Given the description of an element on the screen output the (x, y) to click on. 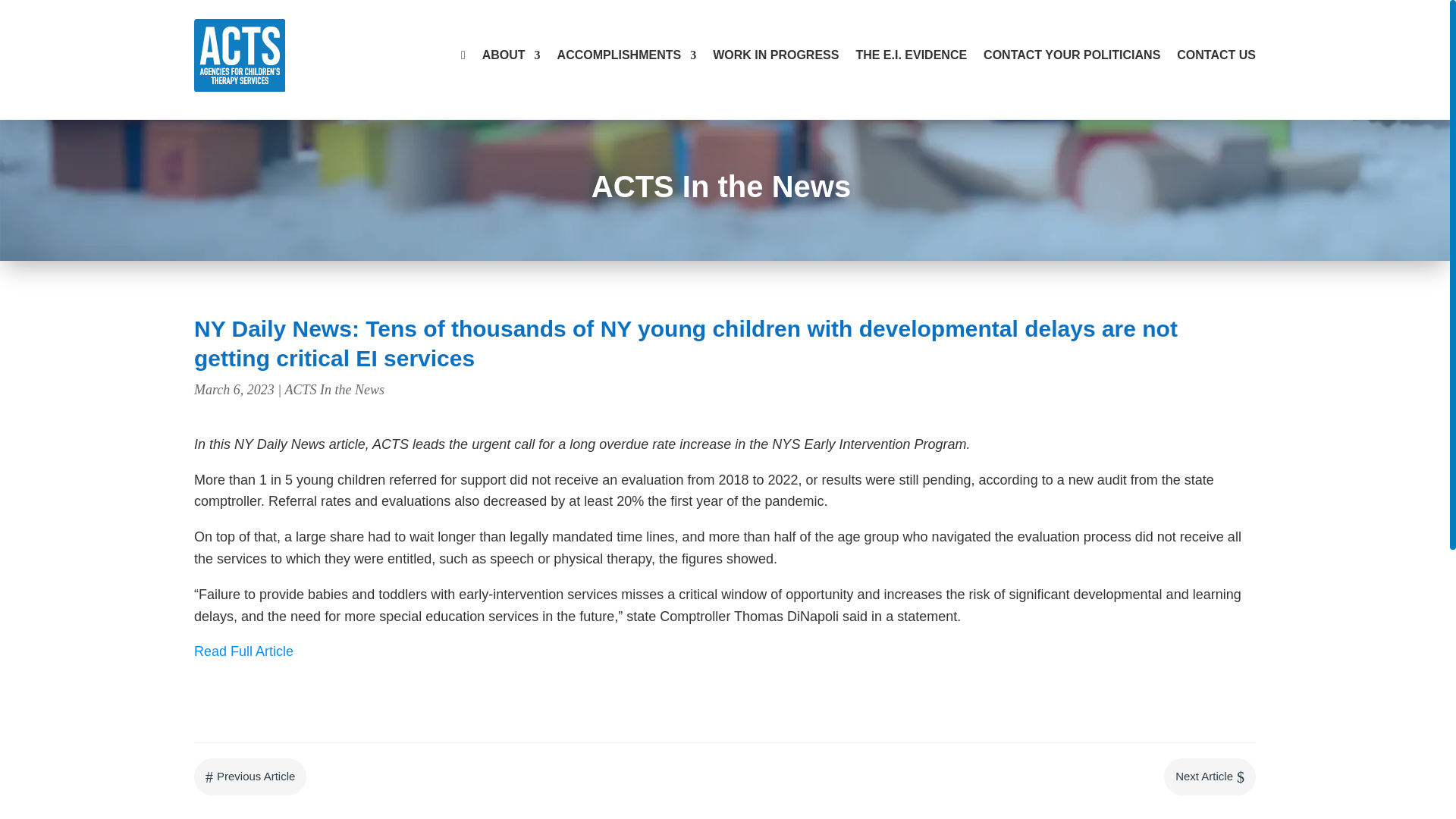
ACTS In the News (333, 389)
CONTACT YOUR POLITICIANS (1072, 54)
ACTS In the News (720, 186)
WORK IN PROGRESS (775, 54)
THE E.I. EVIDENCE (911, 54)
CONTACT US (1215, 54)
Read Full Article (243, 651)
ACCOMPLISHMENTS (627, 54)
